Given the description of an element on the screen output the (x, y) to click on. 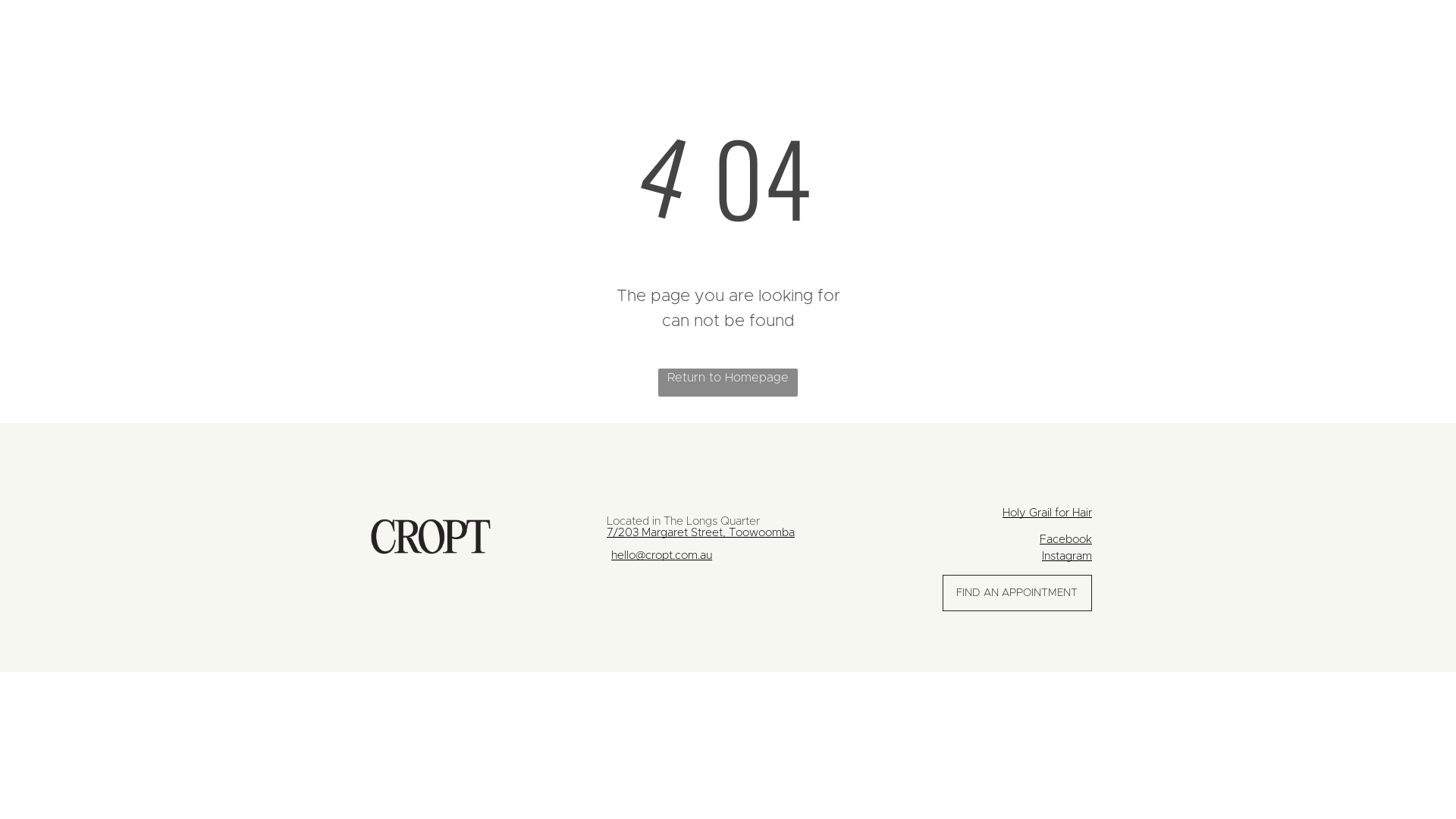
CONTACT Element type: text (833, 28)
FIND AN APPOINTMENT Element type: text (1017, 592)
BOOK NOW Element type: text (476, 28)
Instagram Element type: text (1066, 555)
Facebook Element type: text (1065, 539)
BRIDAL Element type: text (553, 28)
7/203 Margaret Street, Toowoomba Element type: text (700, 532)
CAREERS Element type: text (622, 28)
hello@cropt.com.au Element type: text (661, 555)
Holy Grail for Hair Element type: text (1047, 512)
GIFT VOUCHER Element type: text (923, 28)
Return to Homepage Element type: text (727, 382)
